Given the description of an element on the screen output the (x, y) to click on. 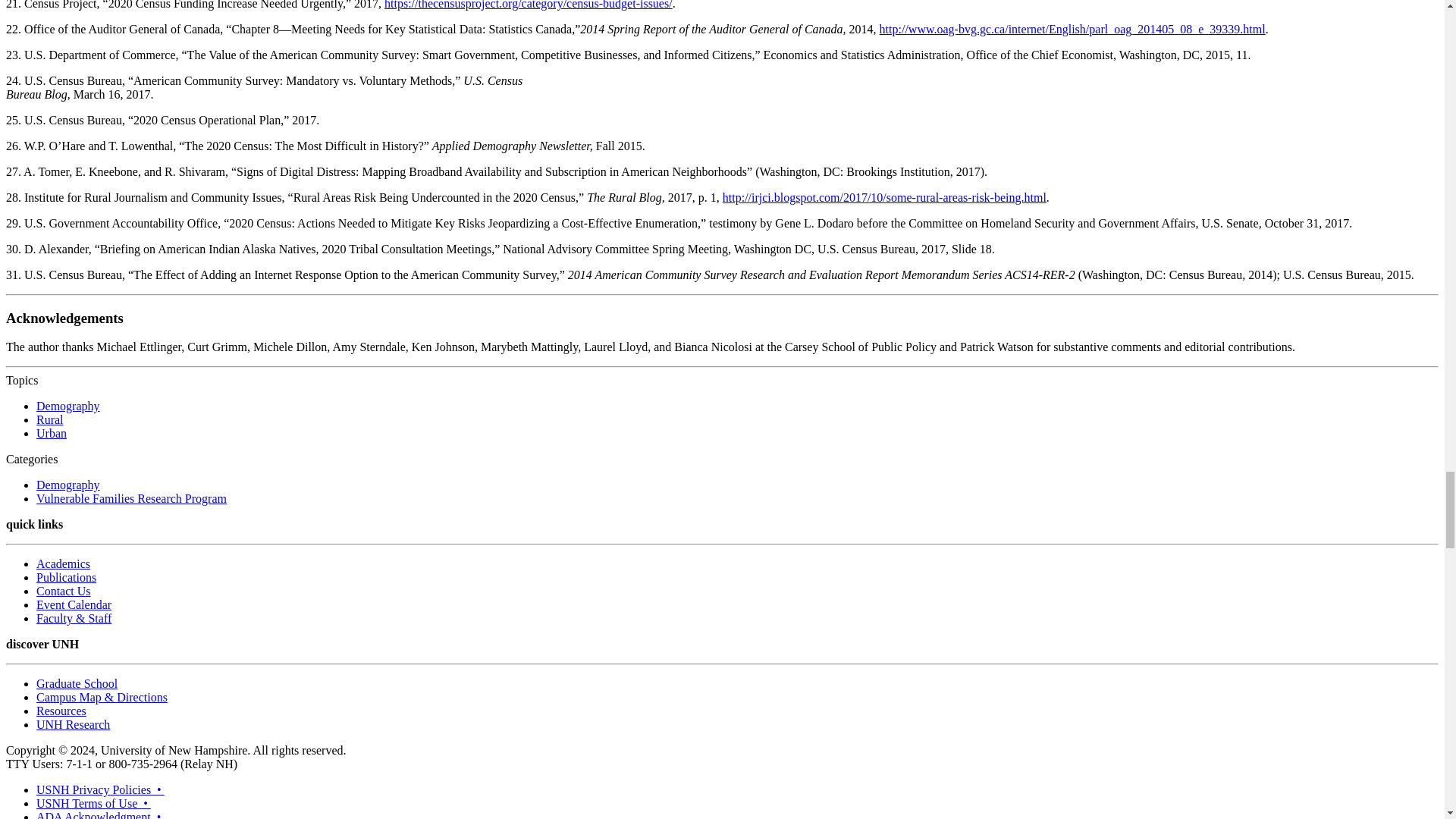
Contact us (63, 590)
Academic Programs (63, 563)
People (74, 617)
Learn more about ADA acknowledgement (99, 814)
Learn (100, 789)
Learn (93, 802)
